Given the description of an element on the screen output the (x, y) to click on. 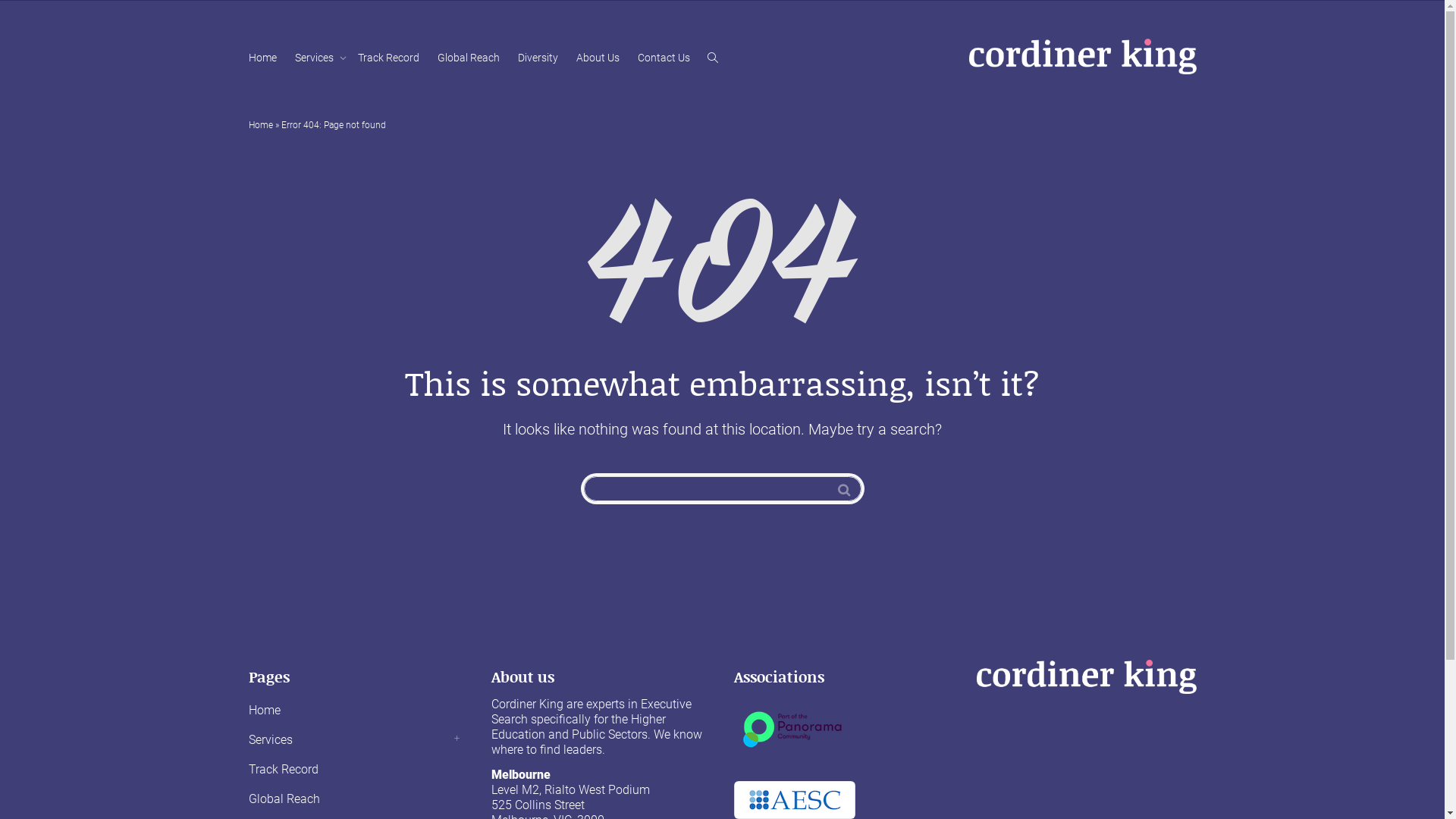
Diversity Element type: text (537, 57)
Search Element type: text (843, 489)
Home Element type: text (260, 124)
Track Record Element type: text (358, 769)
Global Reach Element type: text (358, 799)
Services Element type: text (316, 57)
About Us Element type: text (597, 57)
Services Element type: text (358, 740)
Home Element type: text (358, 710)
Home Element type: text (262, 57)
Track Record Element type: text (388, 57)
Global Reach Element type: text (467, 57)
Cordiner King Element type: hover (1082, 56)
Contact Us Element type: text (663, 57)
